Given the description of an element on the screen output the (x, y) to click on. 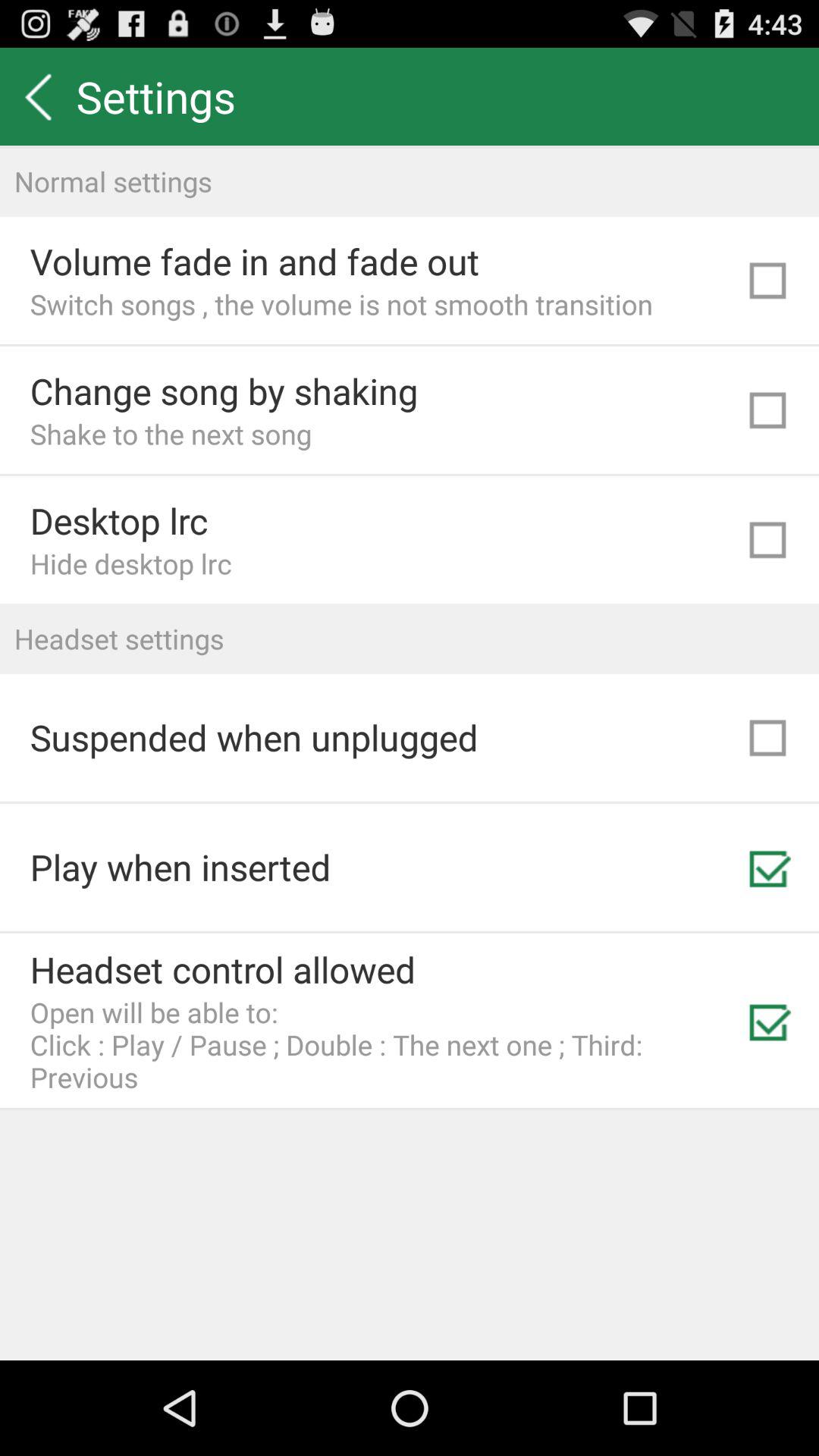
press the item below normal settings app (254, 261)
